Given the description of an element on the screen output the (x, y) to click on. 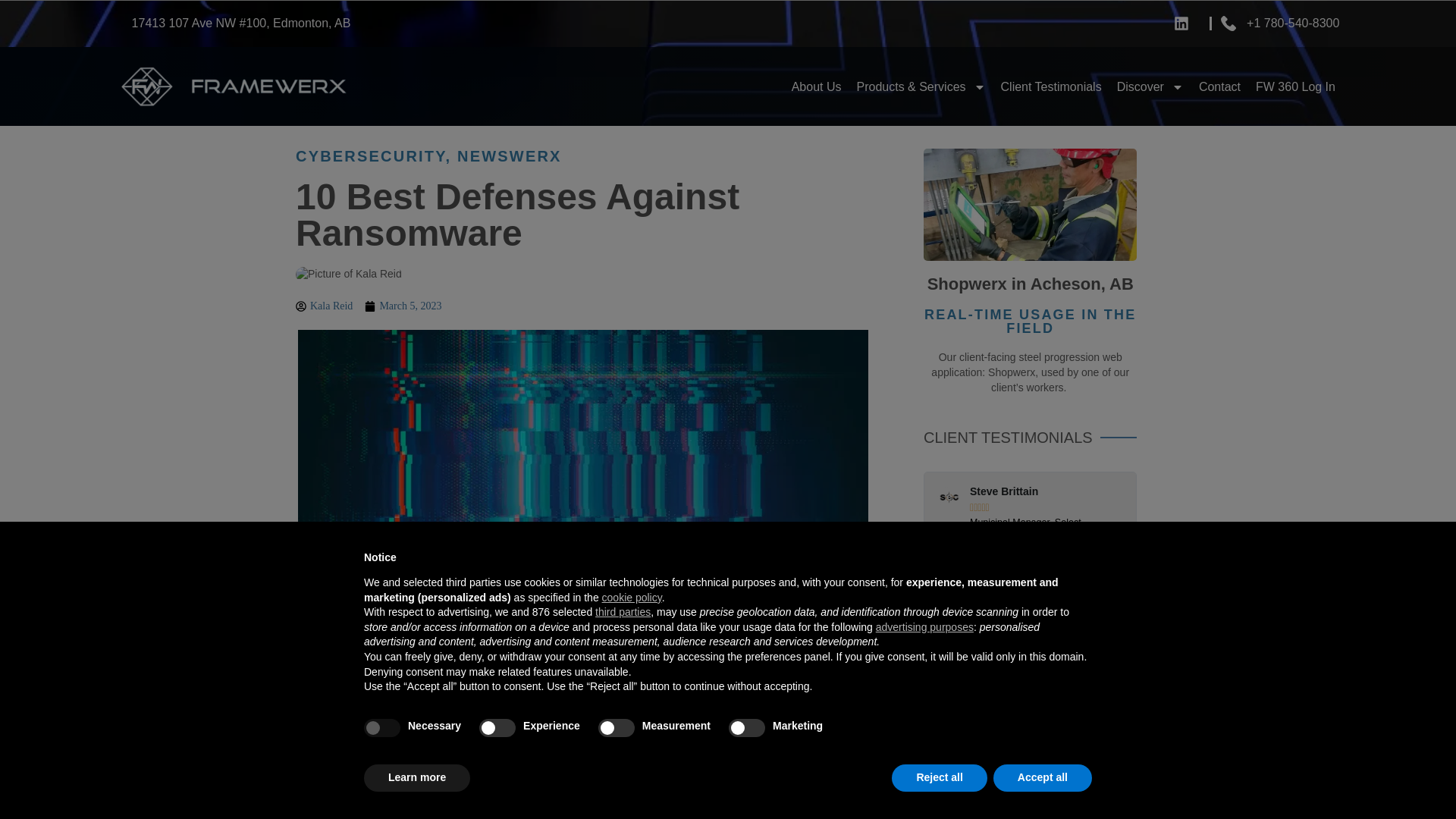
true (382, 728)
About Us (816, 85)
Contact (1219, 85)
Discover (1149, 85)
false (616, 728)
FW 360 Log In (1295, 85)
false (497, 728)
false (747, 728)
Client Testimonials (1051, 85)
